Given the description of an element on the screen output the (x, y) to click on. 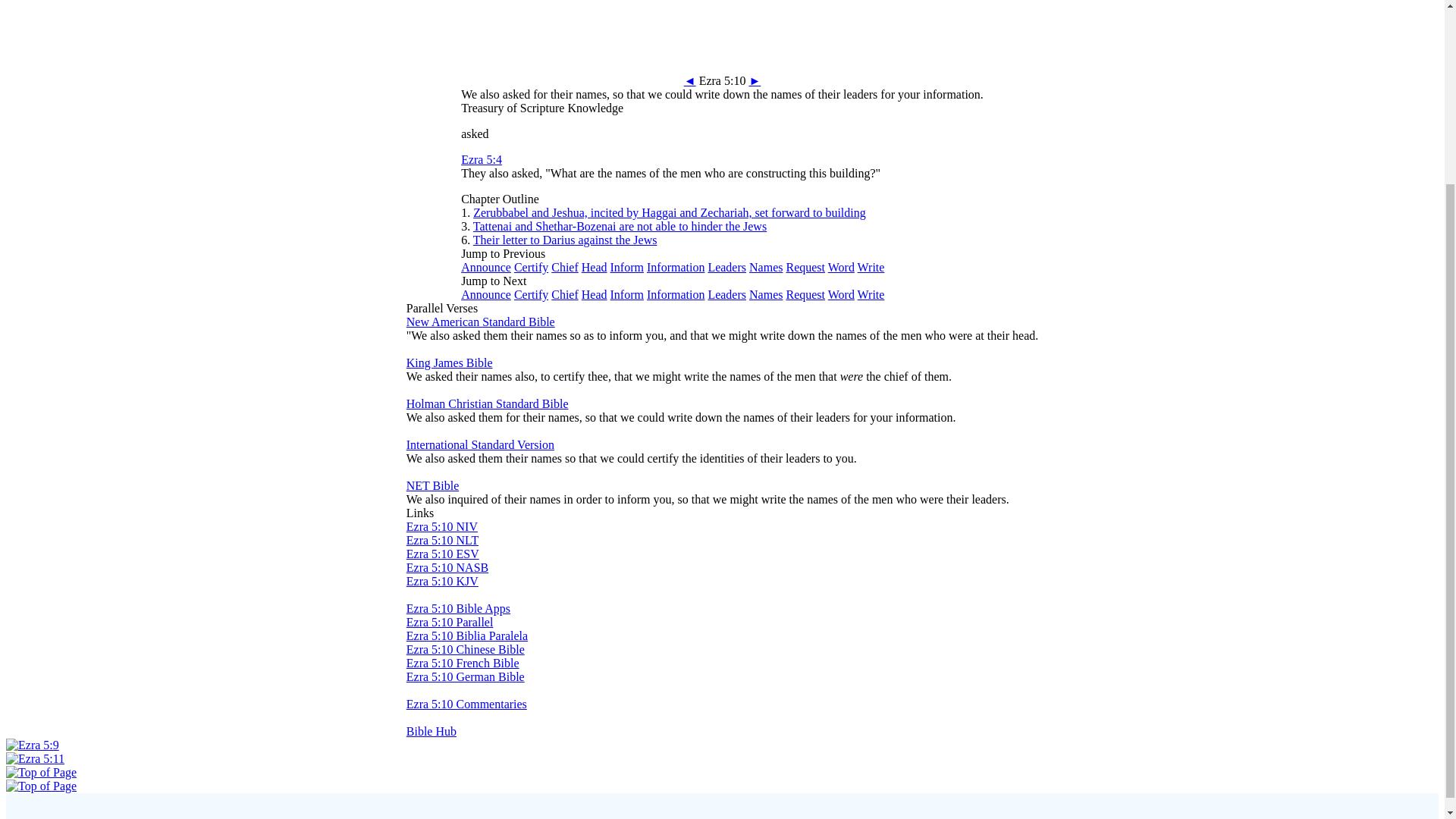
Their letter to Darius against the Jews (565, 239)
Ezra 5:10 NASB (446, 567)
Head (593, 294)
Inform (626, 294)
Ezra 5:10 NLT (442, 540)
Ezra 5:9 (689, 80)
Write (871, 267)
Holman Christian Standard Bible (487, 403)
King James Bible (449, 362)
New American Standard Bible (480, 321)
Ezra 5:9 (32, 744)
Announce (486, 294)
Leaders (726, 294)
Ezra 5:11 (754, 80)
